Given the description of an element on the screen output the (x, y) to click on. 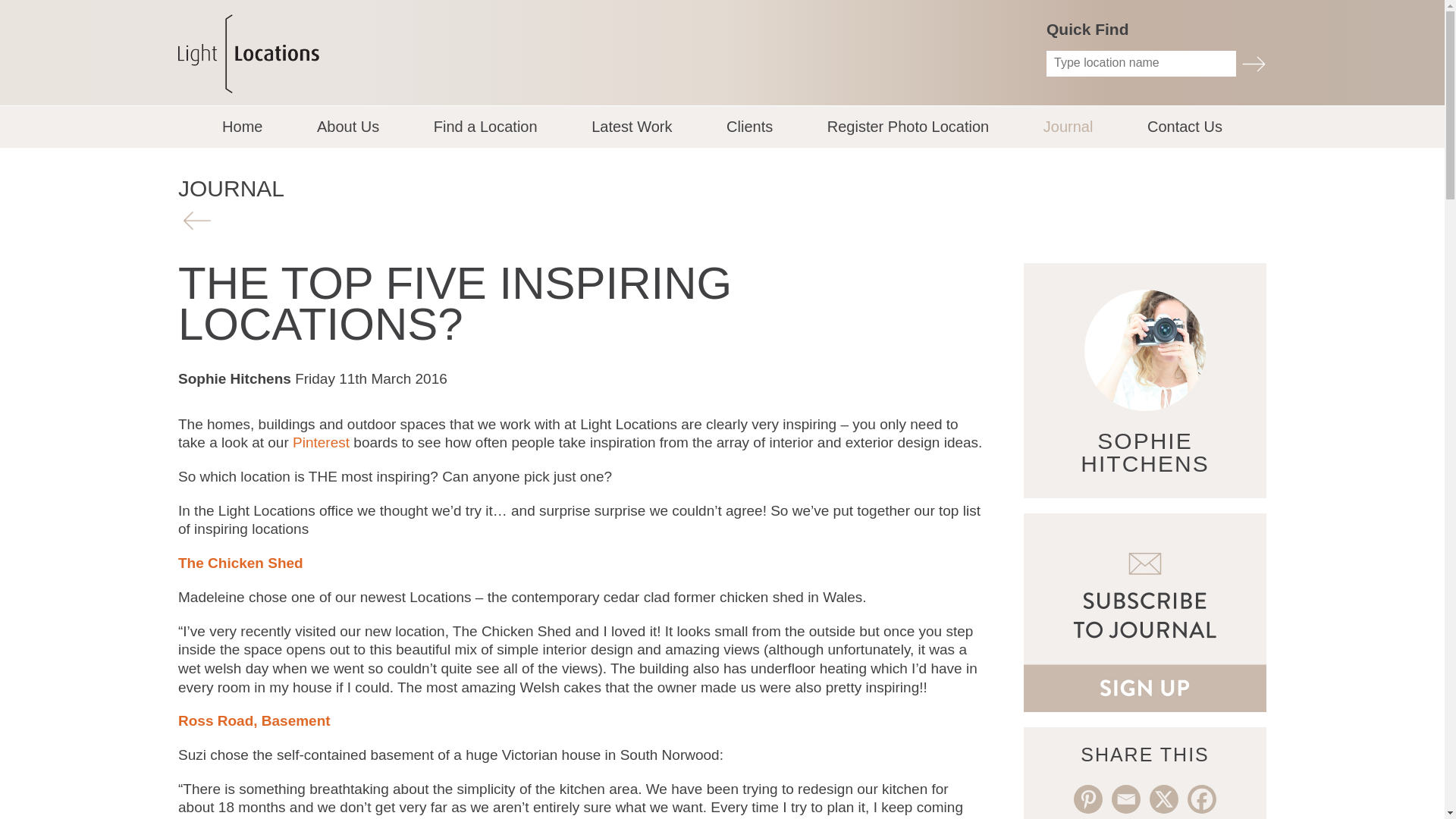
Ross Road, Basement (253, 720)
Latest Work (631, 127)
Register Photo Location (907, 127)
Contact Us (1185, 127)
Pinterest (320, 442)
Email (1126, 799)
Pinterest (1088, 799)
X (1163, 799)
Journal (1068, 127)
Clients (749, 127)
The Chicken Shed (239, 562)
About Us (347, 127)
Search (1253, 63)
BACK (196, 220)
Home (242, 127)
